Given the description of an element on the screen output the (x, y) to click on. 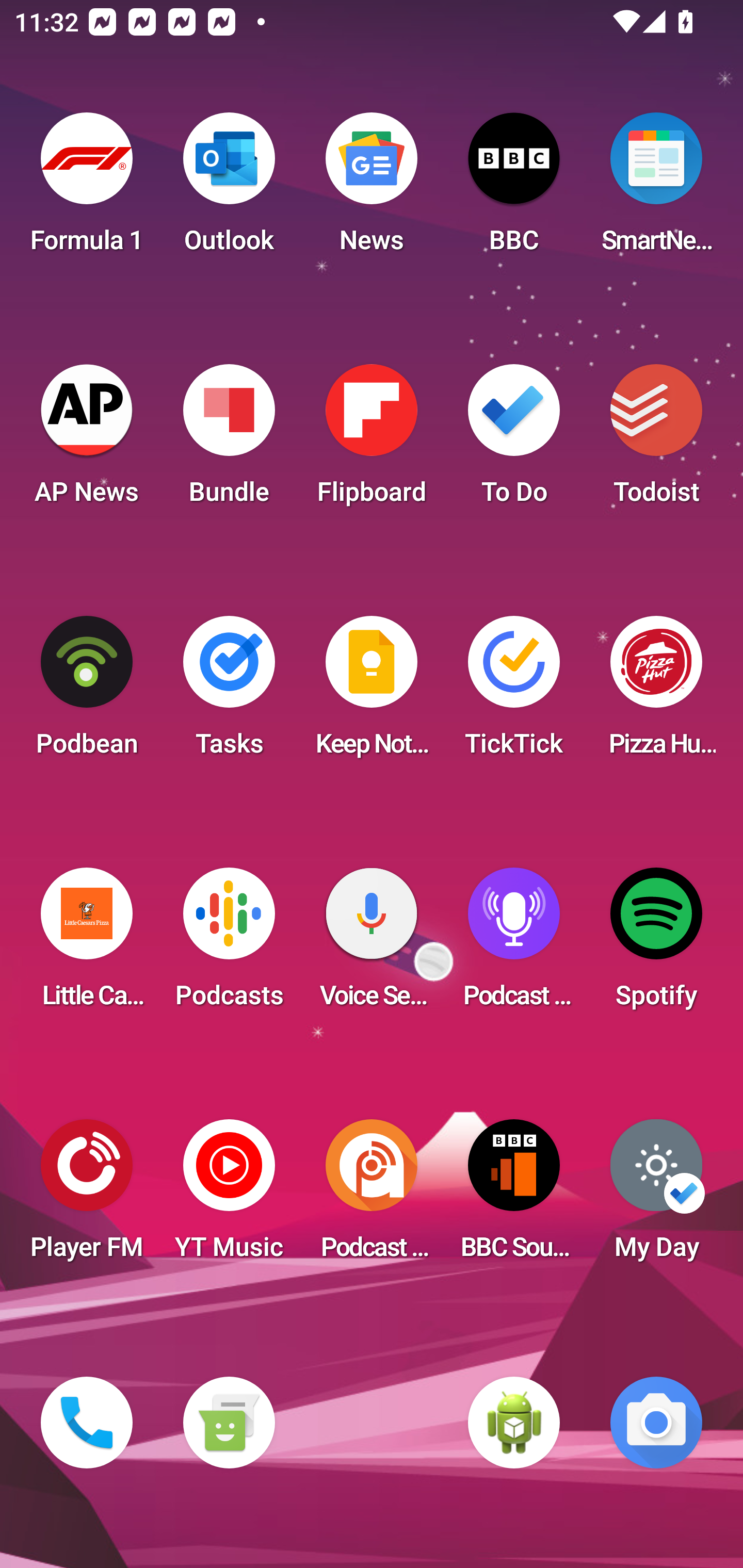
Formula 1 (86, 188)
Outlook (228, 188)
News (371, 188)
BBC (513, 188)
SmartNews (656, 188)
AP News (86, 440)
Bundle (228, 440)
Flipboard (371, 440)
To Do (513, 440)
Todoist (656, 440)
Podbean (86, 692)
Tasks (228, 692)
Keep Notes (371, 692)
TickTick (513, 692)
Pizza Hut HK & Macau (656, 692)
Little Caesars Pizza (86, 943)
Podcasts (228, 943)
Voice Search (371, 943)
Podcast Player (513, 943)
Spotify (656, 943)
Player FM (86, 1195)
YT Music (228, 1195)
Podcast Addict (371, 1195)
BBC Sounds (513, 1195)
My Day (656, 1195)
Phone (86, 1422)
Messaging (228, 1422)
WebView Browser Tester (513, 1422)
Camera (656, 1422)
